Given the description of an element on the screen output the (x, y) to click on. 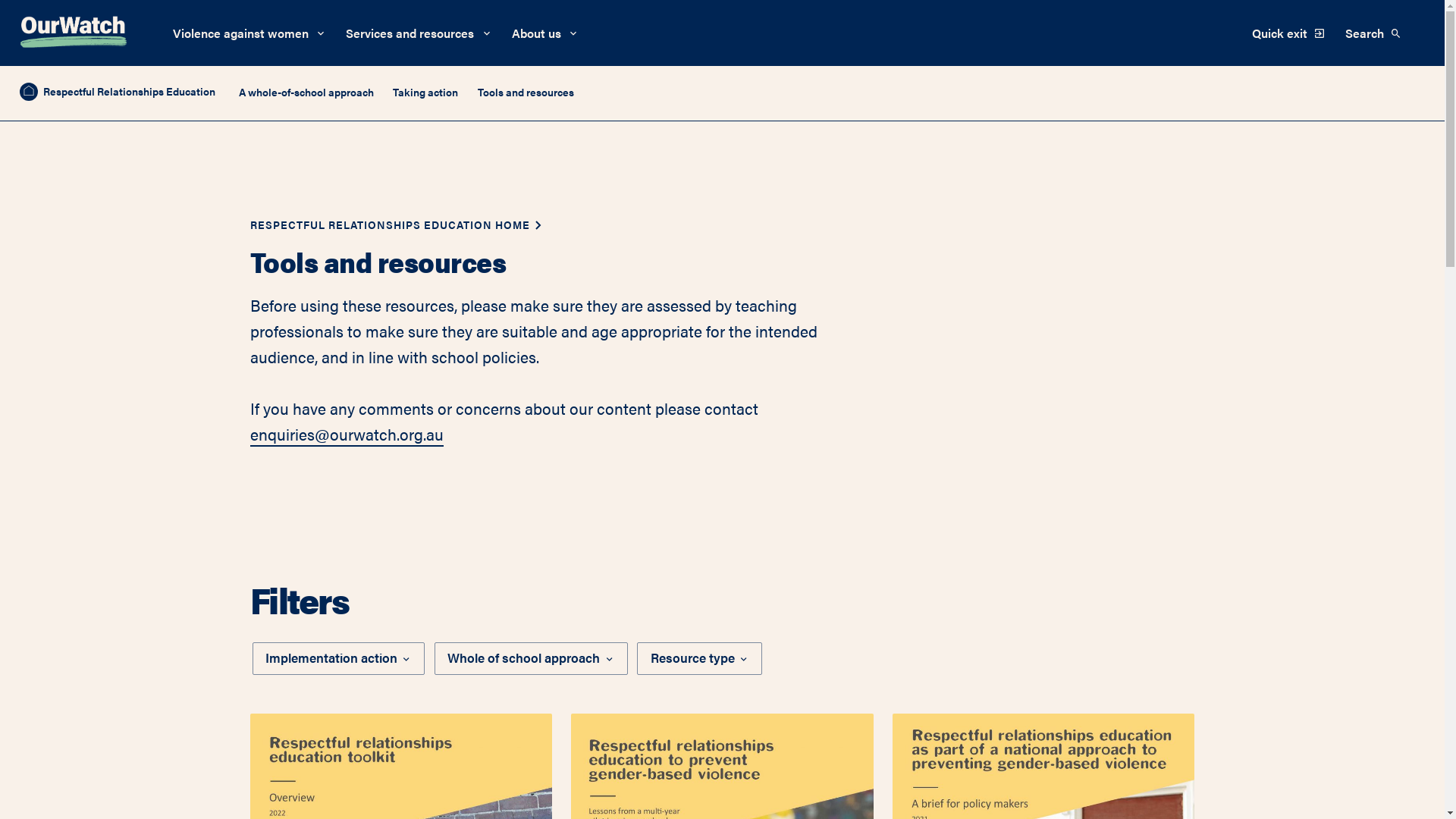
Implementation action Element type: text (338, 658)
Resource type Element type: text (699, 658)
Taking action Element type: text (425, 91)
Whole of school approach Element type: text (530, 658)
RESPECTFUL RELATIONSHIPS EDUCATION HOME Element type: text (390, 224)
A whole-of-school approach Element type: text (305, 91)
Tools and resources Element type: text (525, 91)
enquiries@ourwatch.org.au Element type: text (346, 434)
Quick exit Element type: text (1288, 32)
Respectful Relationships Education Element type: text (117, 91)
Search Element type: text (1375, 33)
